Given the description of an element on the screen output the (x, y) to click on. 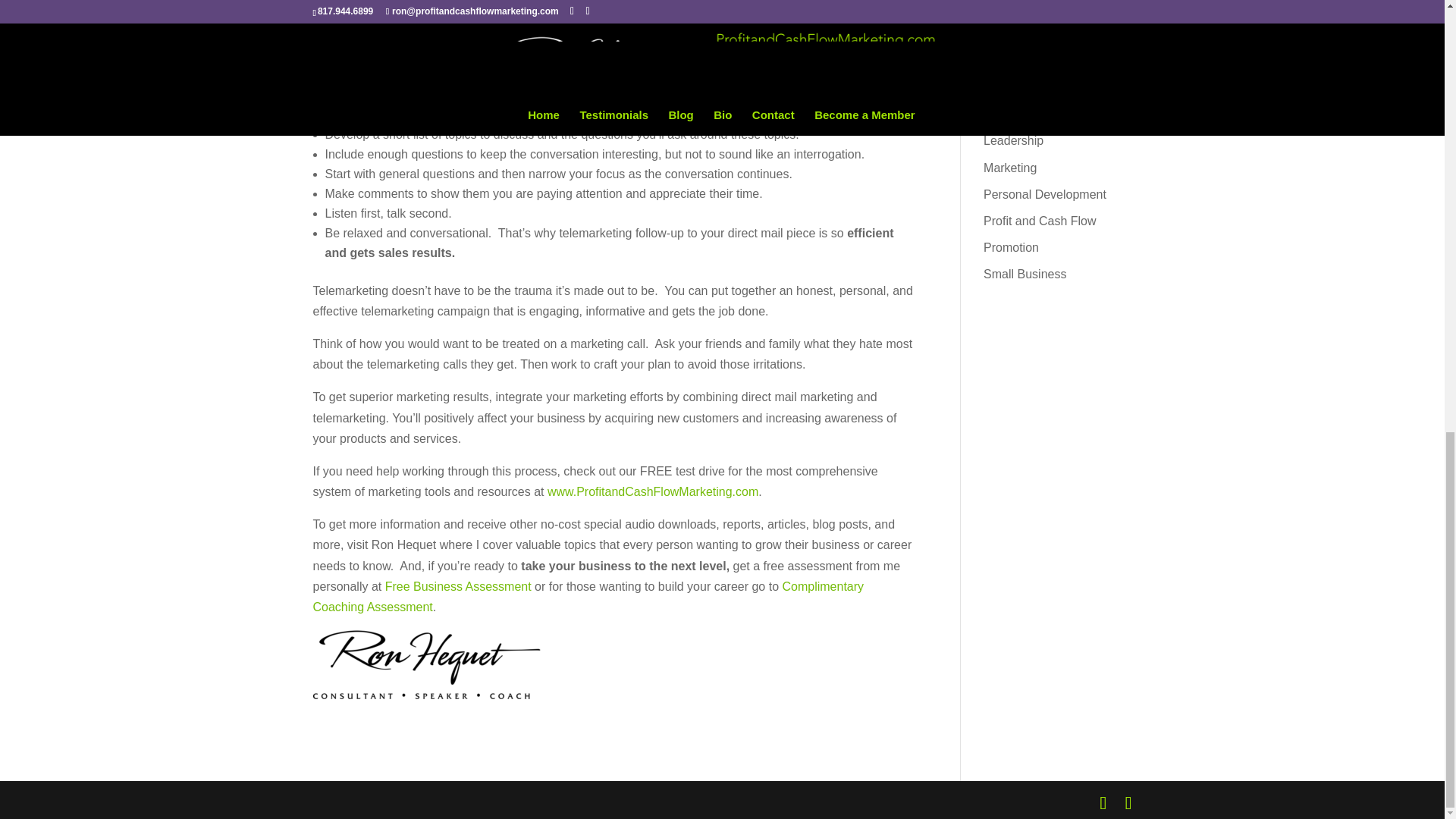
Complimentary Coaching Assessment (588, 596)
Career Development (1040, 33)
Business Planning (1033, 6)
Free Business Assessment (458, 585)
Customer Education (1038, 60)
www.ProfitandCashFlowMarketing.com (652, 491)
